Given the description of an element on the screen output the (x, y) to click on. 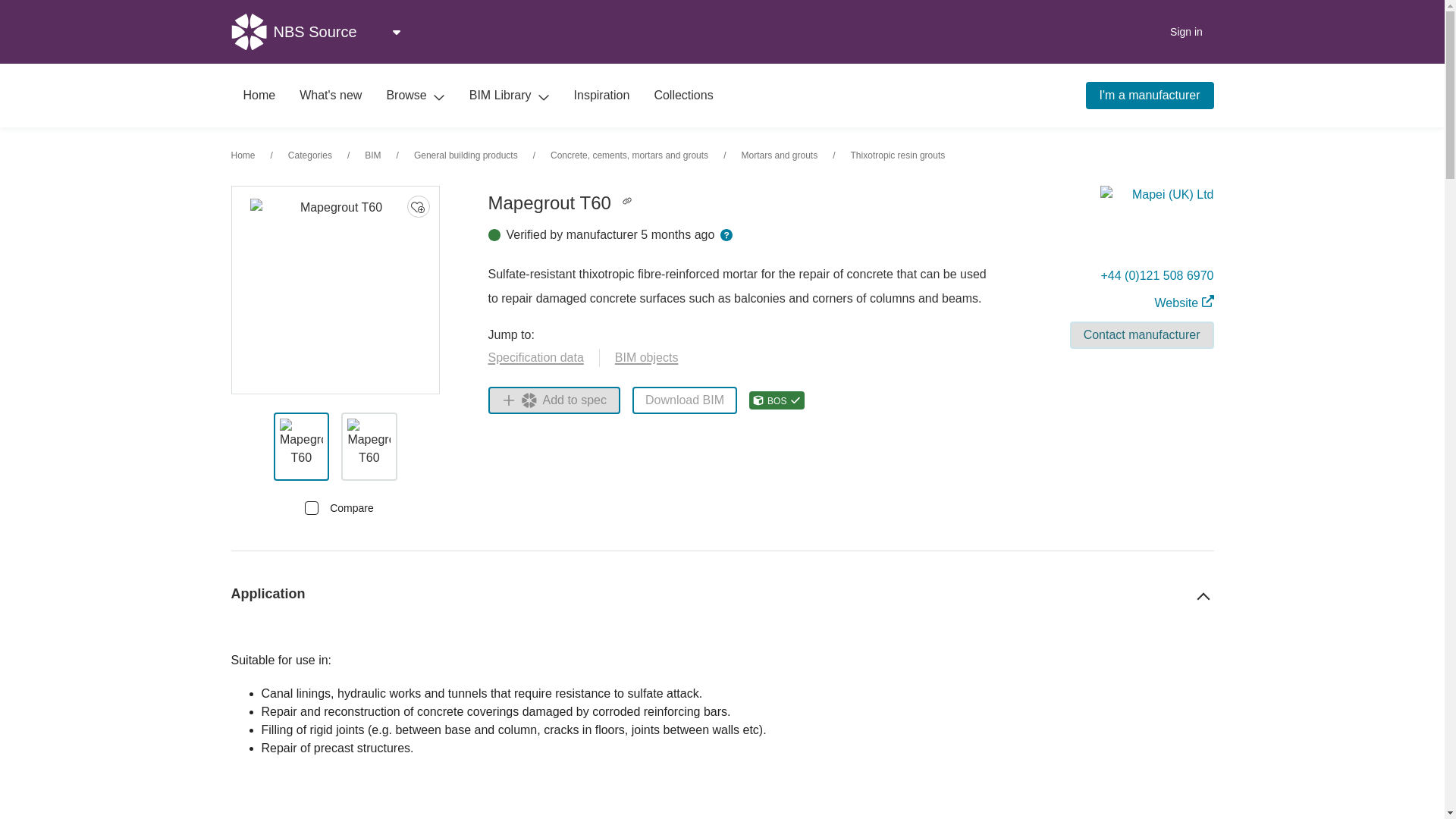
Browse (415, 95)
Categories (309, 155)
Inspiration (602, 95)
Browse inspiration (602, 95)
General building products (465, 155)
Categories (309, 155)
Homepage (258, 95)
Browse what's new (330, 95)
Concrete, cements, mortars and grouts (628, 155)
Thixotropic resin grouts (897, 155)
I'm a manufacturer (1150, 94)
What's new (330, 95)
BIM Library (509, 95)
Collections (683, 95)
Browse (415, 95)
